Given the description of an element on the screen output the (x, y) to click on. 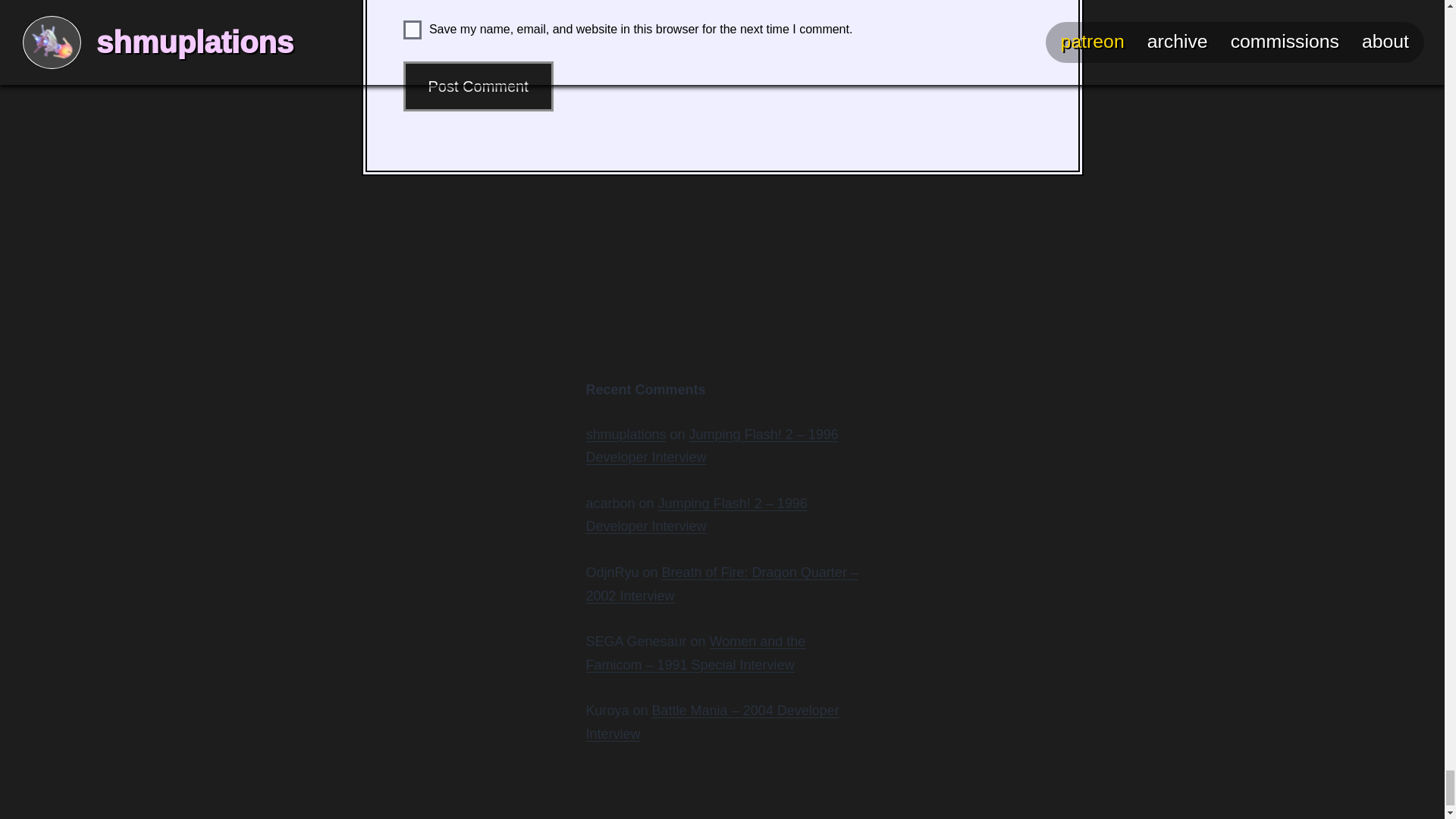
Post Comment (478, 86)
yes (412, 29)
Post Comment (478, 86)
